Given the description of an element on the screen output the (x, y) to click on. 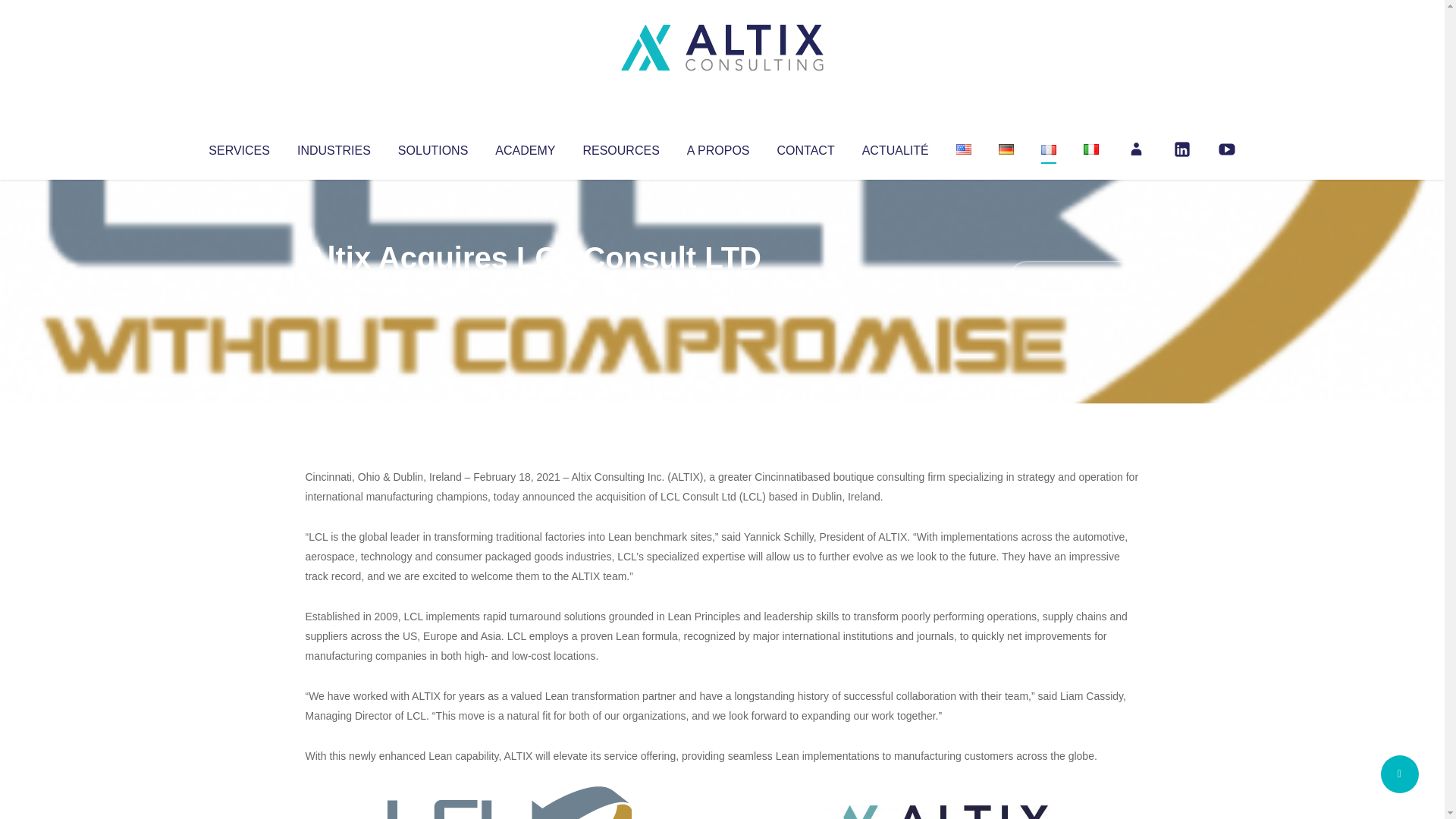
Altix (333, 287)
No Comments (1073, 278)
Articles par Altix (333, 287)
RESOURCES (620, 146)
Uncategorized (530, 287)
INDUSTRIES (334, 146)
A PROPOS (718, 146)
SOLUTIONS (432, 146)
SERVICES (238, 146)
ACADEMY (524, 146)
